Given the description of an element on the screen output the (x, y) to click on. 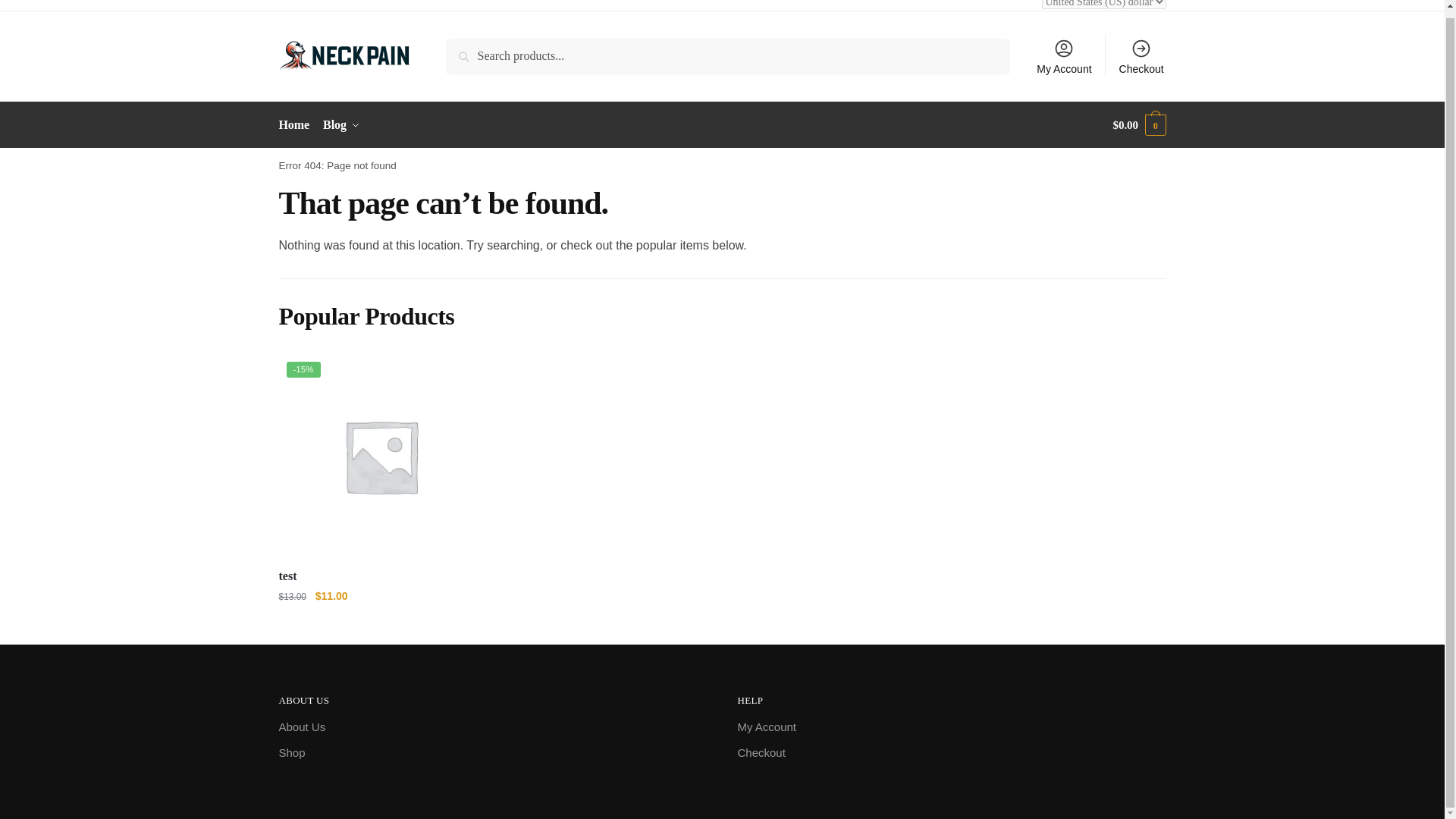
Blog (340, 125)
My Account (766, 727)
Shop (292, 753)
About Us (302, 727)
View your shopping cart (1139, 125)
Checkout (1141, 55)
My Account (1063, 55)
Checkout (760, 753)
Search (467, 48)
test (381, 455)
